Given the description of an element on the screen output the (x, y) to click on. 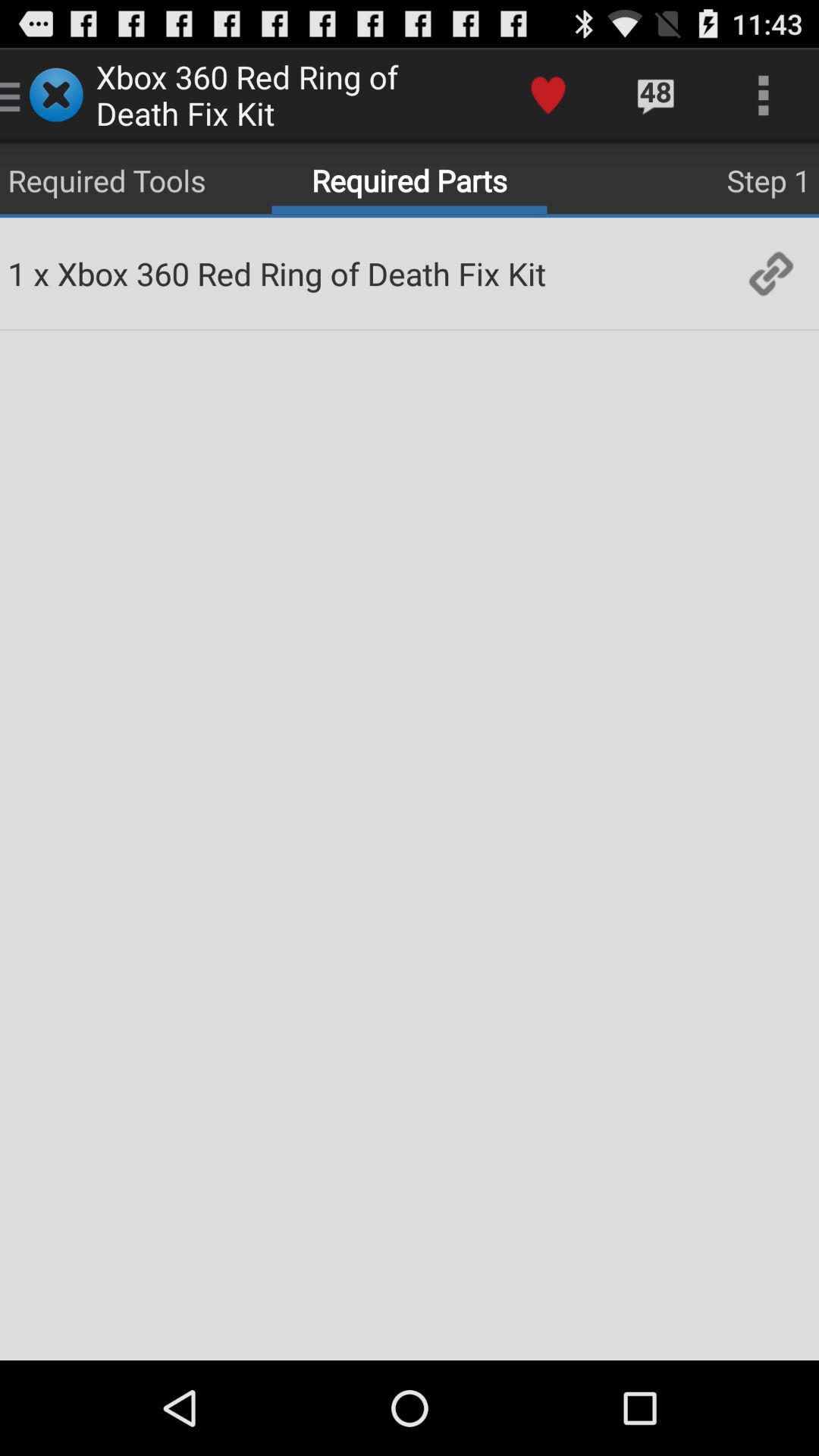
open icon next to the xbox 360 red (548, 95)
